Given the description of an element on the screen output the (x, y) to click on. 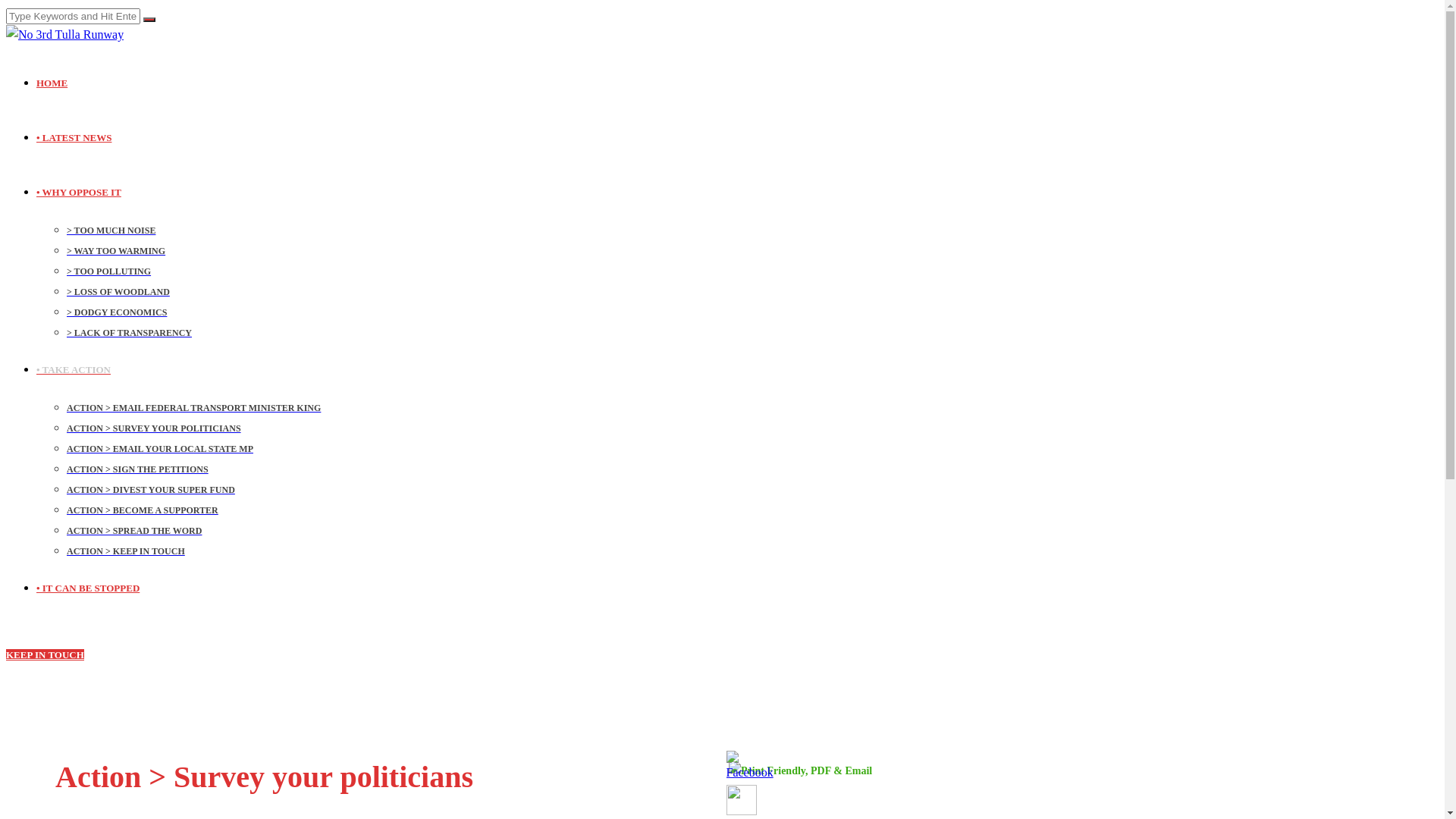
ACTION > SIGN THE PETITIONS Element type: text (137, 469)
ACTION > BECOME A SUPPORTER Element type: text (142, 510)
> DODGY ECONOMICS Element type: text (116, 312)
> LOSS OF WOODLAND Element type: text (117, 291)
> TOO MUCH NOISE Element type: text (110, 230)
ACTION > KEEP IN TOUCH Element type: text (125, 551)
ACTION > EMAIL YOUR LOCAL STATE MP Element type: text (159, 448)
ACTION > SURVEY YOUR POLITICIANS Element type: text (153, 428)
> LACK OF TRANSPARENCY Element type: text (128, 332)
> WAY TOO WARMING Element type: text (115, 250)
Facebook Element type: hover (749, 765)
ACTION > DIVEST YOUR SUPER FUND Element type: text (150, 489)
ACTION > SPREAD THE WORD Element type: text (133, 530)
Printer Friendly, PDF & Email Element type: hover (800, 769)
> TOO POLLUTING Element type: text (108, 271)
ACTION > EMAIL FEDERAL TRANSPORT MINISTER KING Element type: text (193, 407)
KEEP IN TOUCH Element type: text (45, 654)
HOME Element type: text (78, 81)
No 3rd Tulla Runway Element type: hover (64, 34)
